Given the description of an element on the screen output the (x, y) to click on. 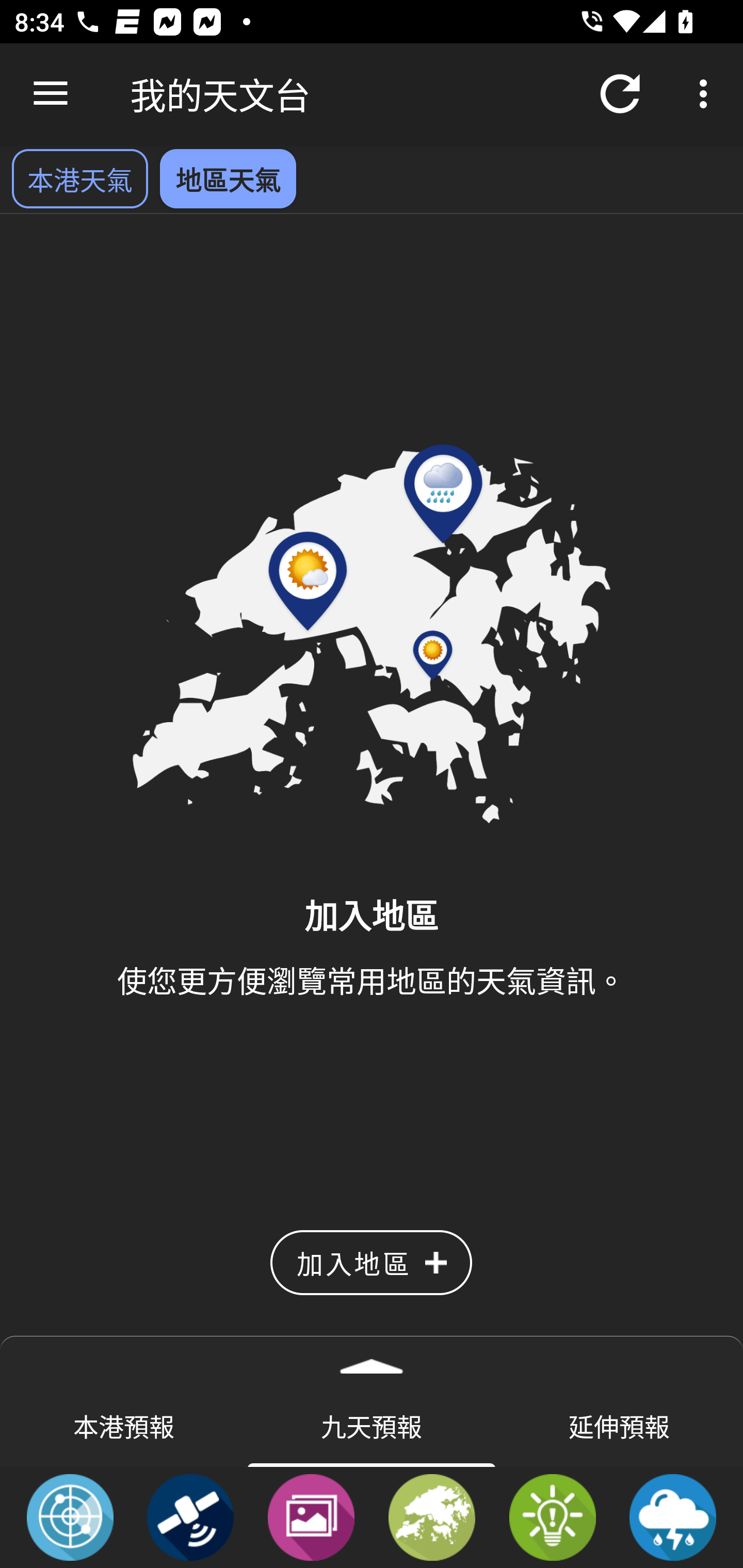
向上瀏覽 (50, 93)
重新整理 (619, 93)
更多選項 (706, 93)
本港天氣 選擇 本港天氣 (79, 178)
地區天氣 已選擇 地區天氣 (227, 178)
加入地區 (370, 1262)
展開 (371, 1358)
本港預報 (123, 1424)
延伸預報 (619, 1424)
雷達圖像 (69, 1516)
衛星圖像 (190, 1516)
天氣照片 (310, 1516)
分區天氣 (431, 1516)
天氣提示 (551, 1516)
定點降雨及閃電預報 (672, 1516)
